Given the description of an element on the screen output the (x, y) to click on. 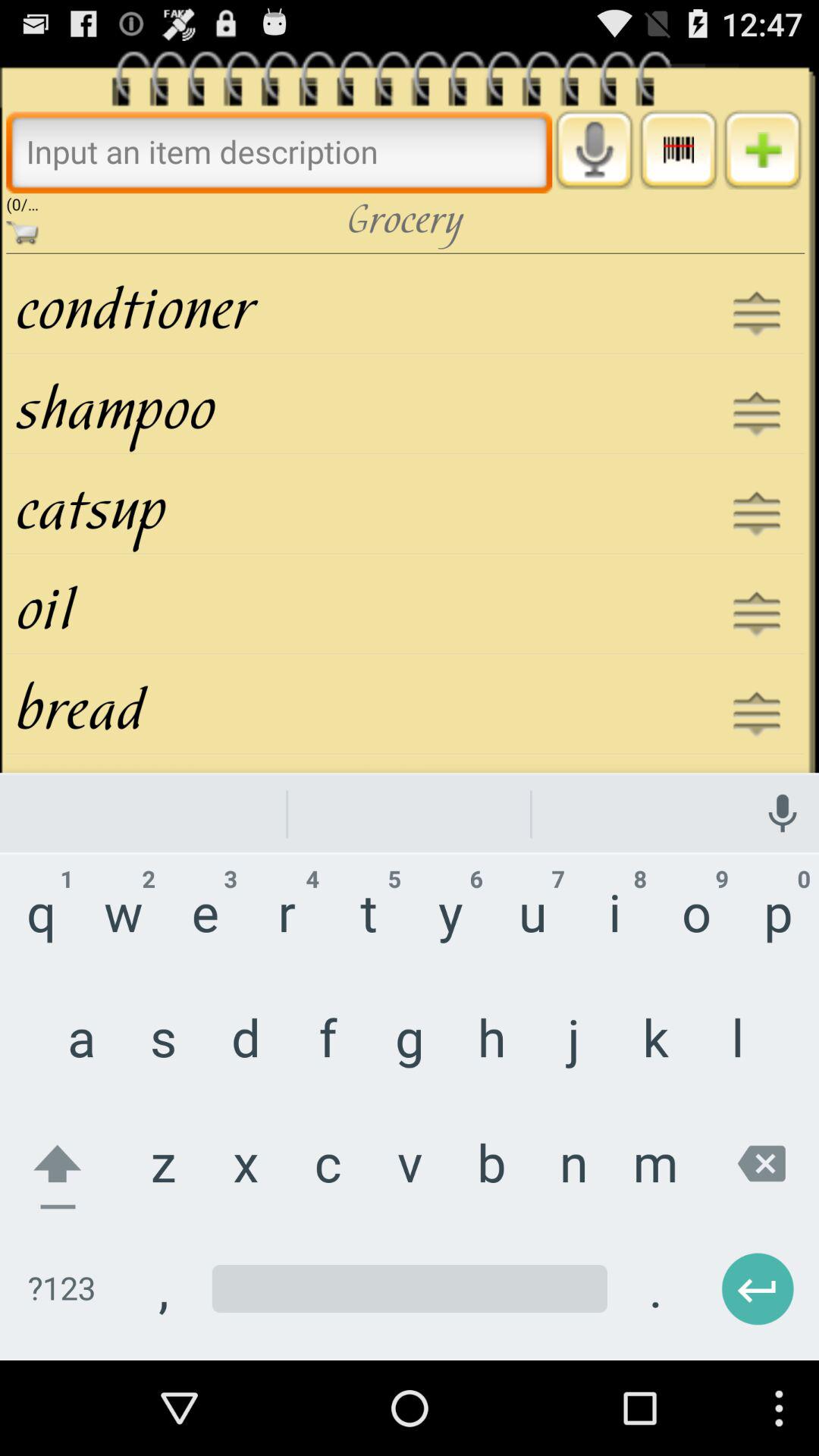
seach button (279, 151)
